Given the description of an element on the screen output the (x, y) to click on. 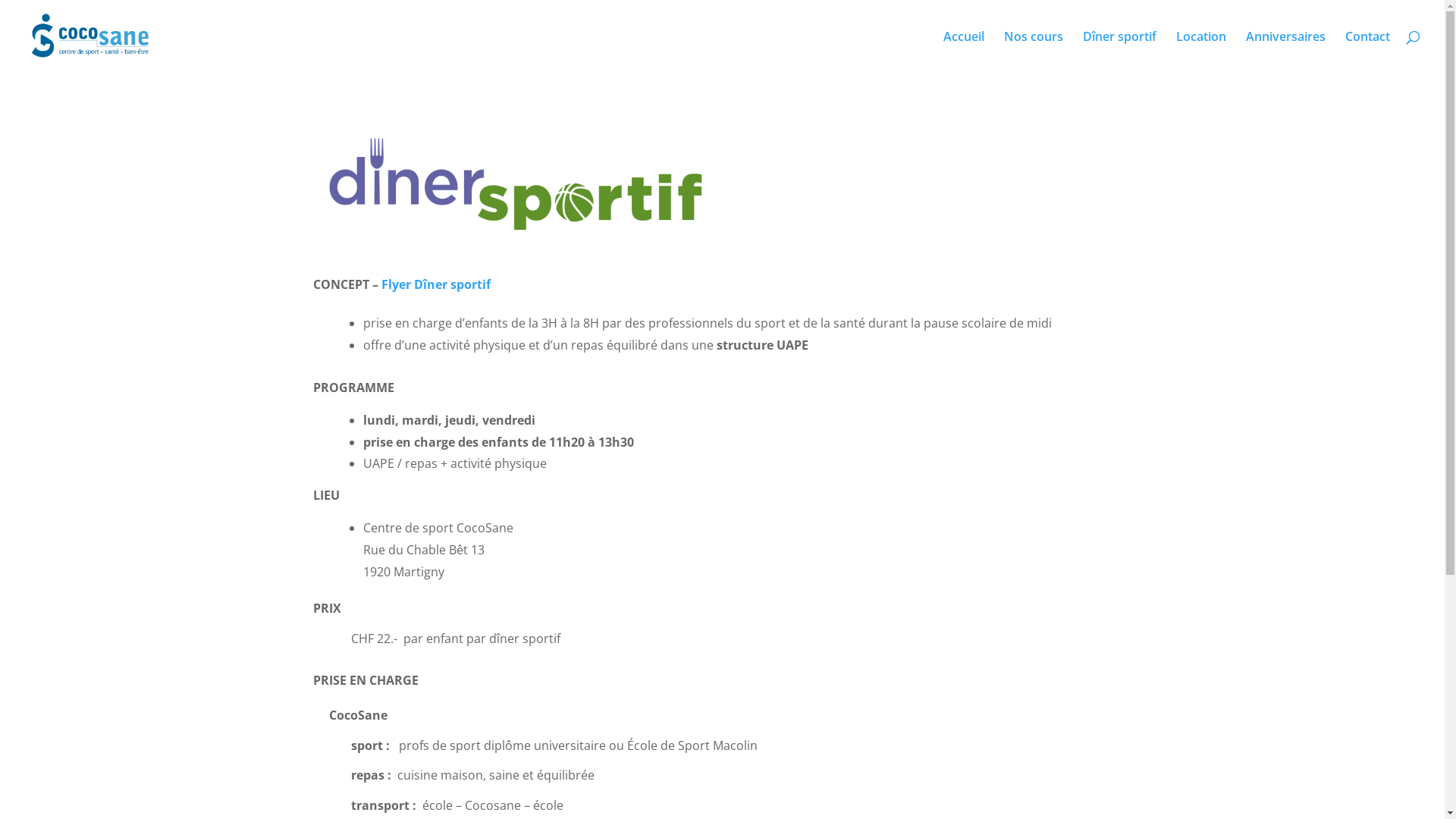
Anniversaires Element type: text (1285, 51)
Accueil Element type: text (963, 51)
Location Element type: text (1201, 51)
Nos cours Element type: text (1033, 51)
Contact Element type: text (1367, 51)
